Given the description of an element on the screen output the (x, y) to click on. 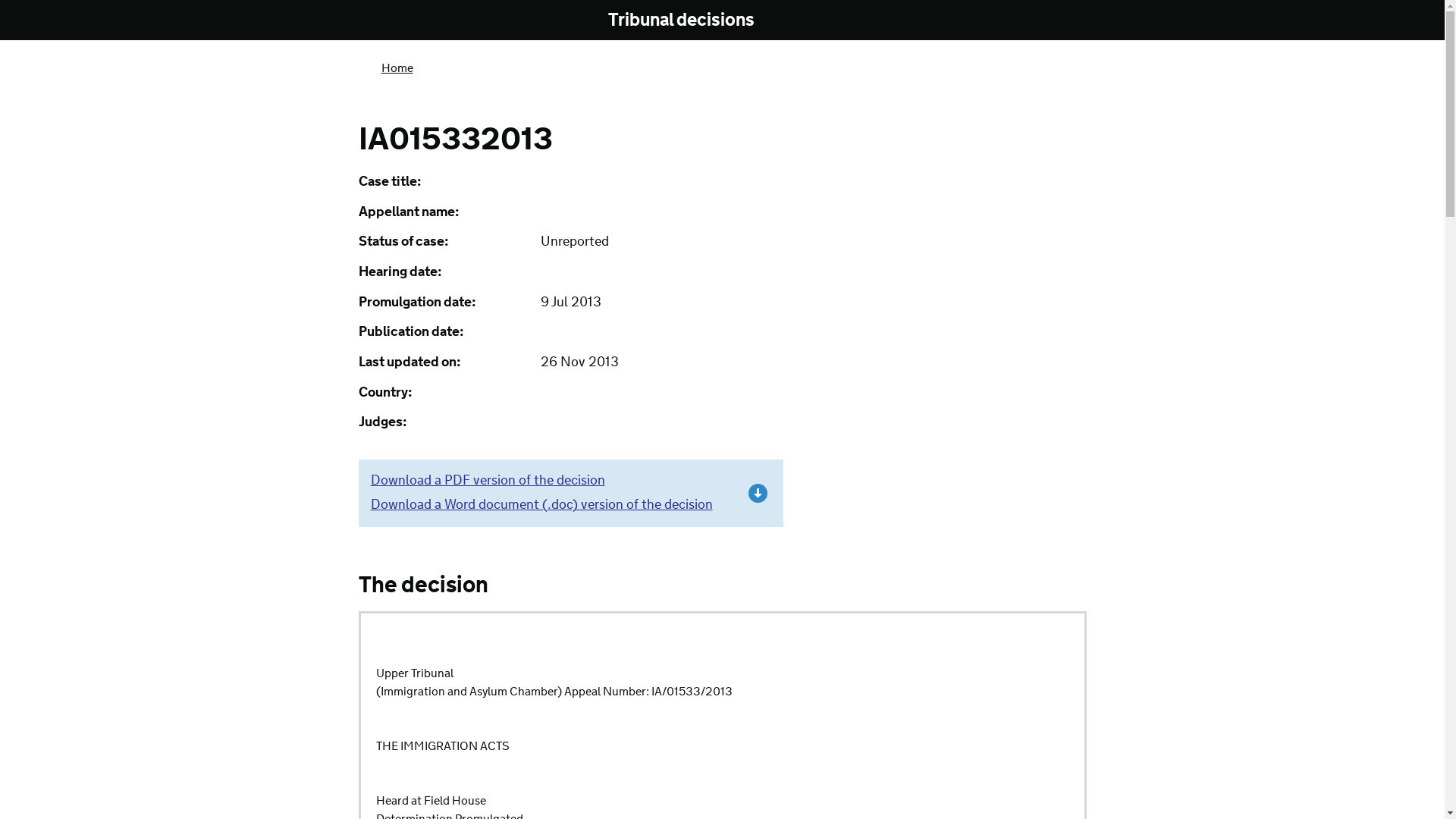
Download a PDF version of the decision (486, 480)
Tribunal decisions (691, 20)
Home (396, 68)
Go to the GOV.UK homepage (420, 20)
